Given the description of an element on the screen output the (x, y) to click on. 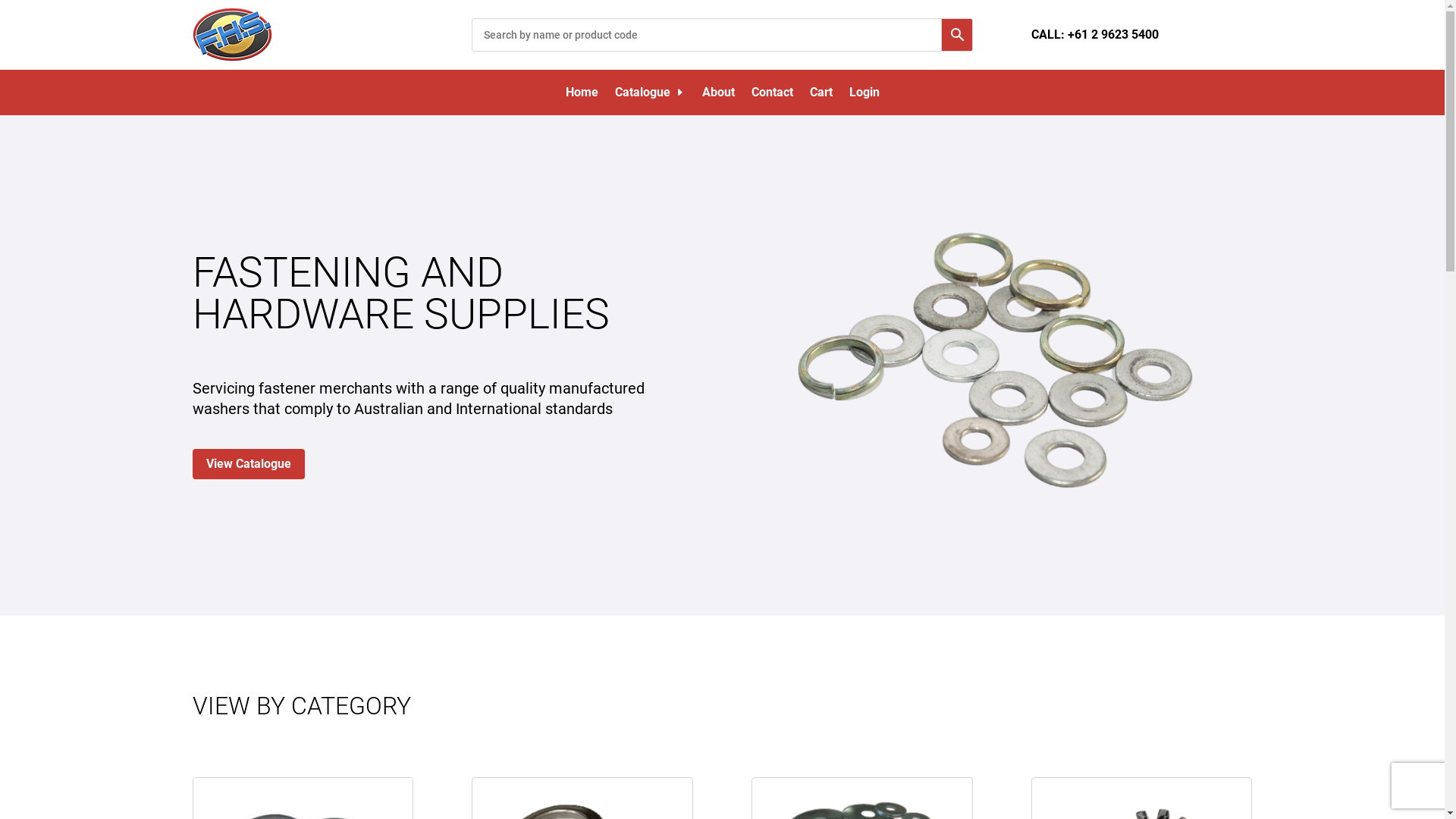
Login Element type: text (864, 95)
Contact Element type: text (771, 95)
About Element type: text (718, 95)
fastening and hardware supplies banner img Element type: hover (1001, 365)
fastening and hardware supplies logo Element type: hover (232, 34)
View Catalogue Element type: text (248, 464)
Cart Element type: text (820, 95)
Catalogue Element type: text (649, 95)
Home Element type: text (581, 95)
